Given the description of an element on the screen output the (x, y) to click on. 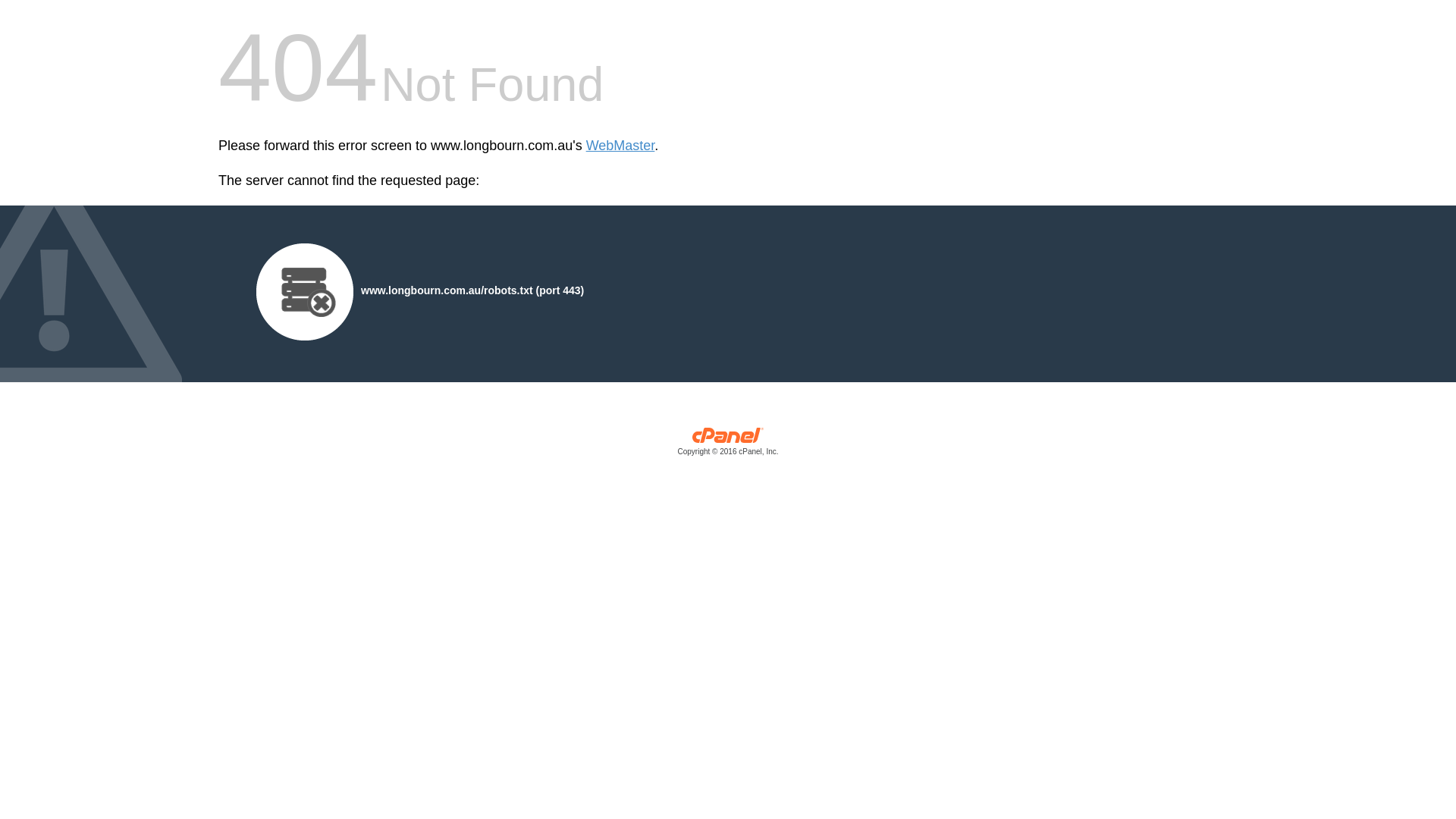
WebMaster Element type: text (620, 145)
